Given the description of an element on the screen output the (x, y) to click on. 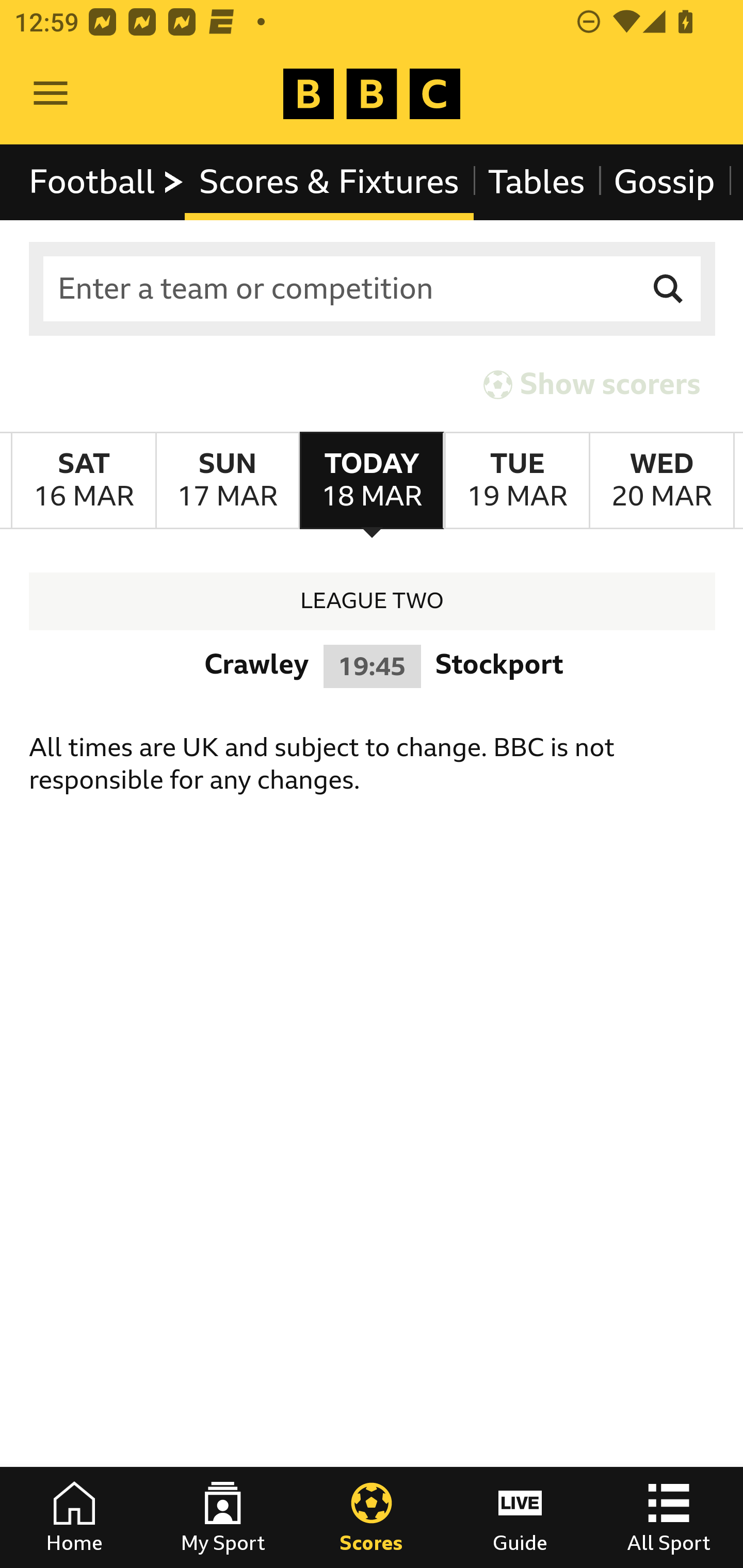
Open Menu (50, 93)
Football  (106, 181)
Scores & Fixtures (329, 181)
Tables (536, 181)
Gossip (664, 181)
Search (669, 289)
Show scorers (591, 383)
SaturdayMarch 16th Saturday March 16th (83, 480)
SundayMarch 17th Sunday March 17th (227, 480)
TuesdayMarch 19th Tuesday March 19th (516, 480)
WednesdayMarch 20th Wednesday March 20th (661, 480)
Home (74, 1517)
My Sport (222, 1517)
Guide (519, 1517)
All Sport (668, 1517)
